Given the description of an element on the screen output the (x, y) to click on. 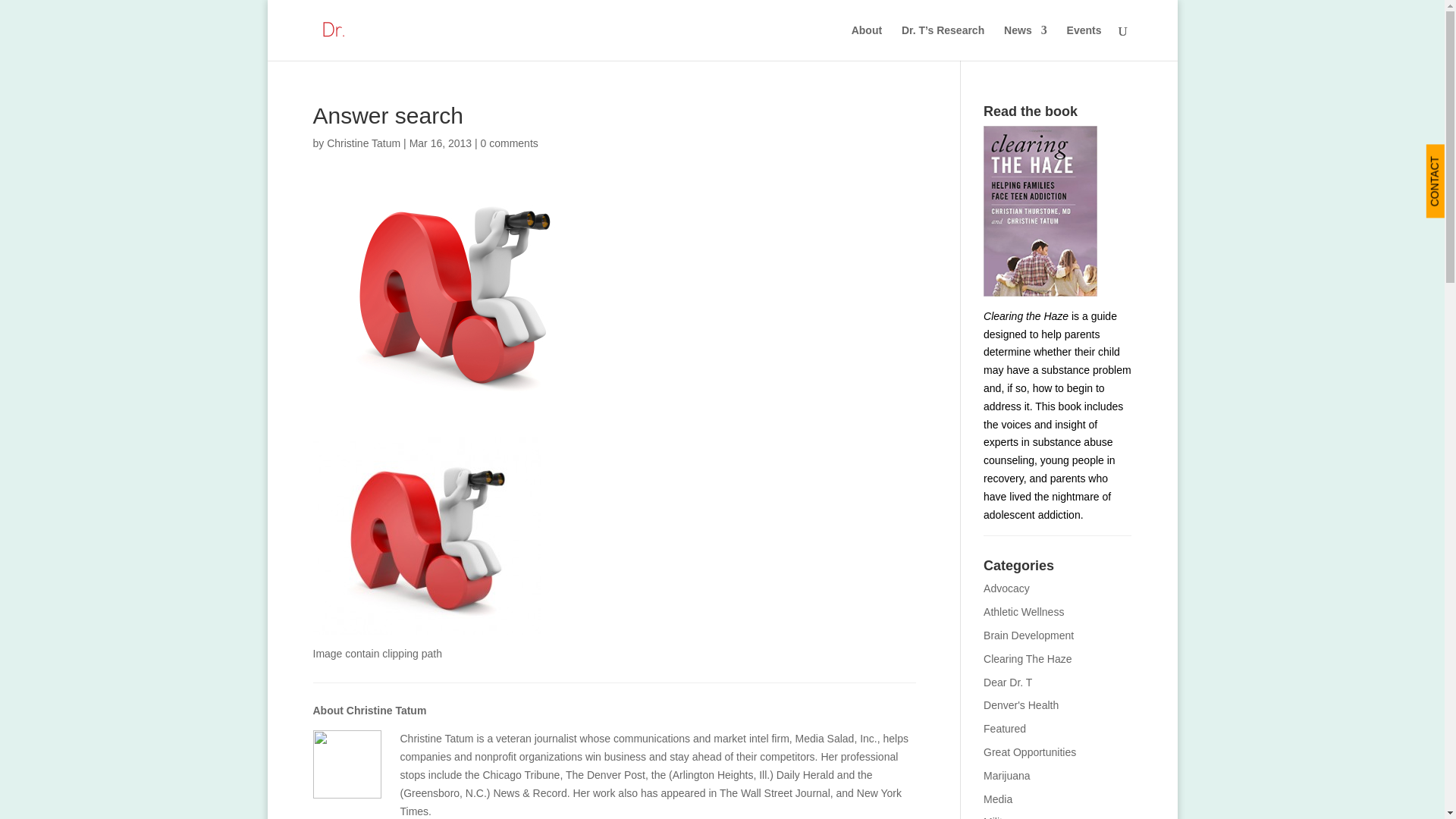
Denver's Health (1021, 705)
Christine Tatum (363, 143)
Dear Dr. T (1008, 682)
Advocacy (1006, 588)
News (1025, 42)
Military (1000, 817)
Posts by Christine Tatum (363, 143)
0 comments (509, 143)
Featured (1005, 728)
Events (1084, 42)
Great Opportunities (1029, 752)
Media (997, 799)
Brain Development (1029, 635)
Clearing The Haze (1027, 658)
About (866, 42)
